Given the description of an element on the screen output the (x, y) to click on. 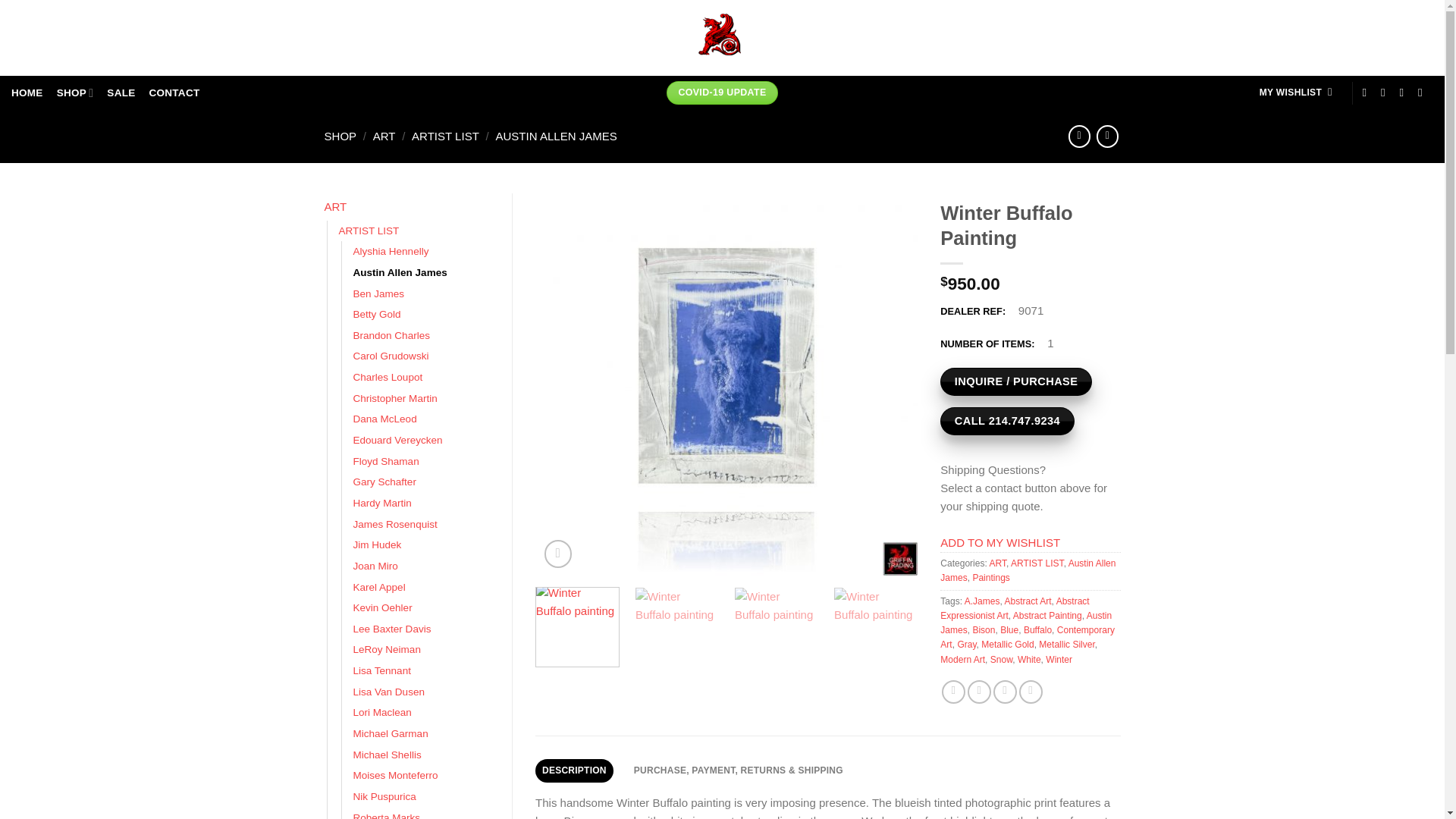
MENU (39, 37)
SHOP (75, 92)
Share on Facebook (953, 691)
Search (1417, 37)
Pin on Pinterest (1030, 691)
HOME (27, 92)
Zoom (558, 553)
Wishlist (1295, 92)
Email to a Friend (1004, 691)
Share on Twitter (979, 691)
